Given the description of an element on the screen output the (x, y) to click on. 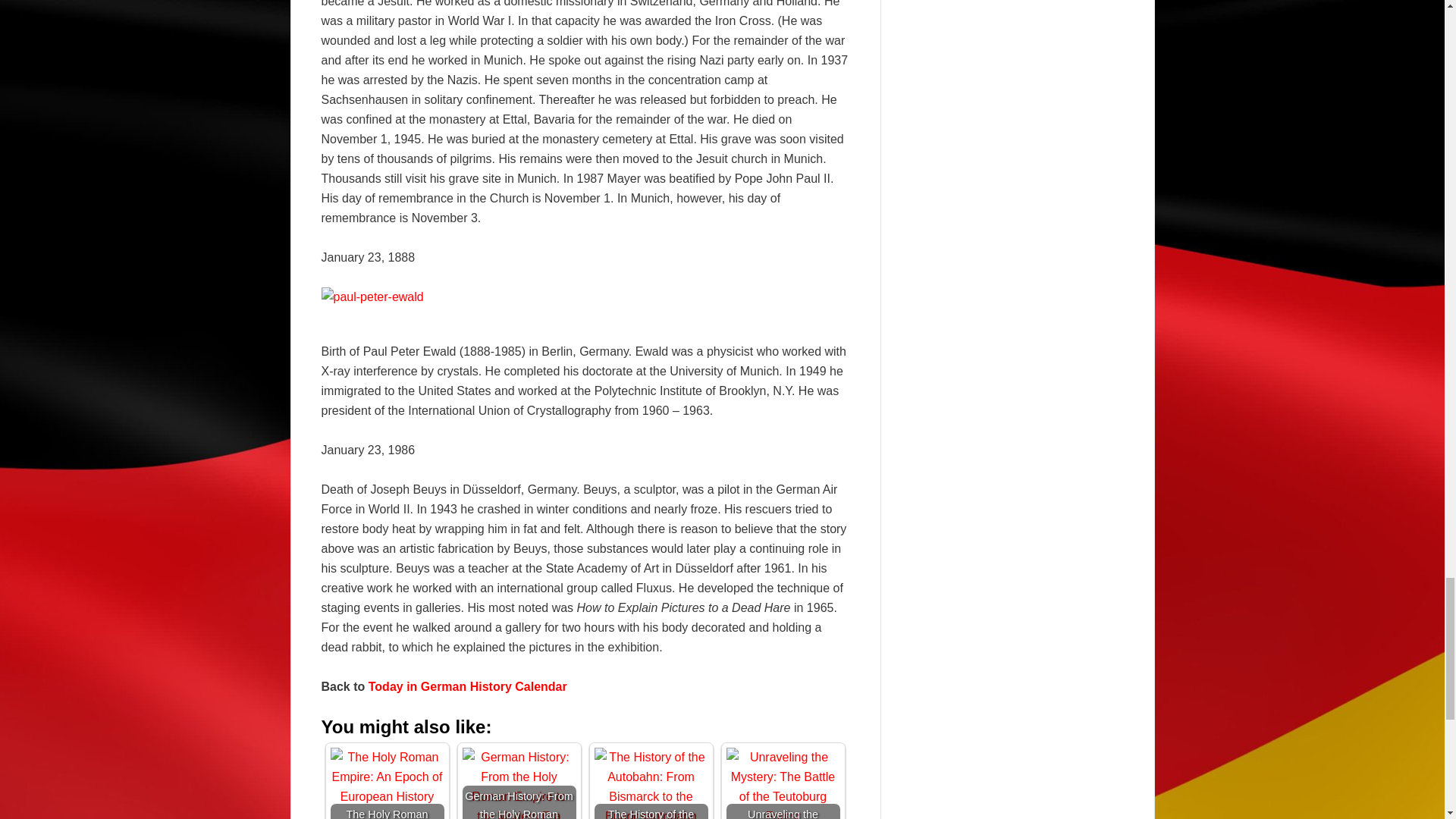
Unraveling the Mystery: The Battle of the Teutoburg Forest (783, 783)
Today in German History Calendar (467, 686)
German History: From the Holy Roman Empire to the Modern Era (519, 783)
Unraveling the Mystery: The Battle of the Teutoburg Forest (783, 783)
The Holy Roman Empire: An Epoch of European History (387, 783)
The Holy Roman Empire: An Epoch of European History (387, 776)
German History: From the Holy Roman Empire to the Modern Era (519, 783)
